Given the description of an element on the screen output the (x, y) to click on. 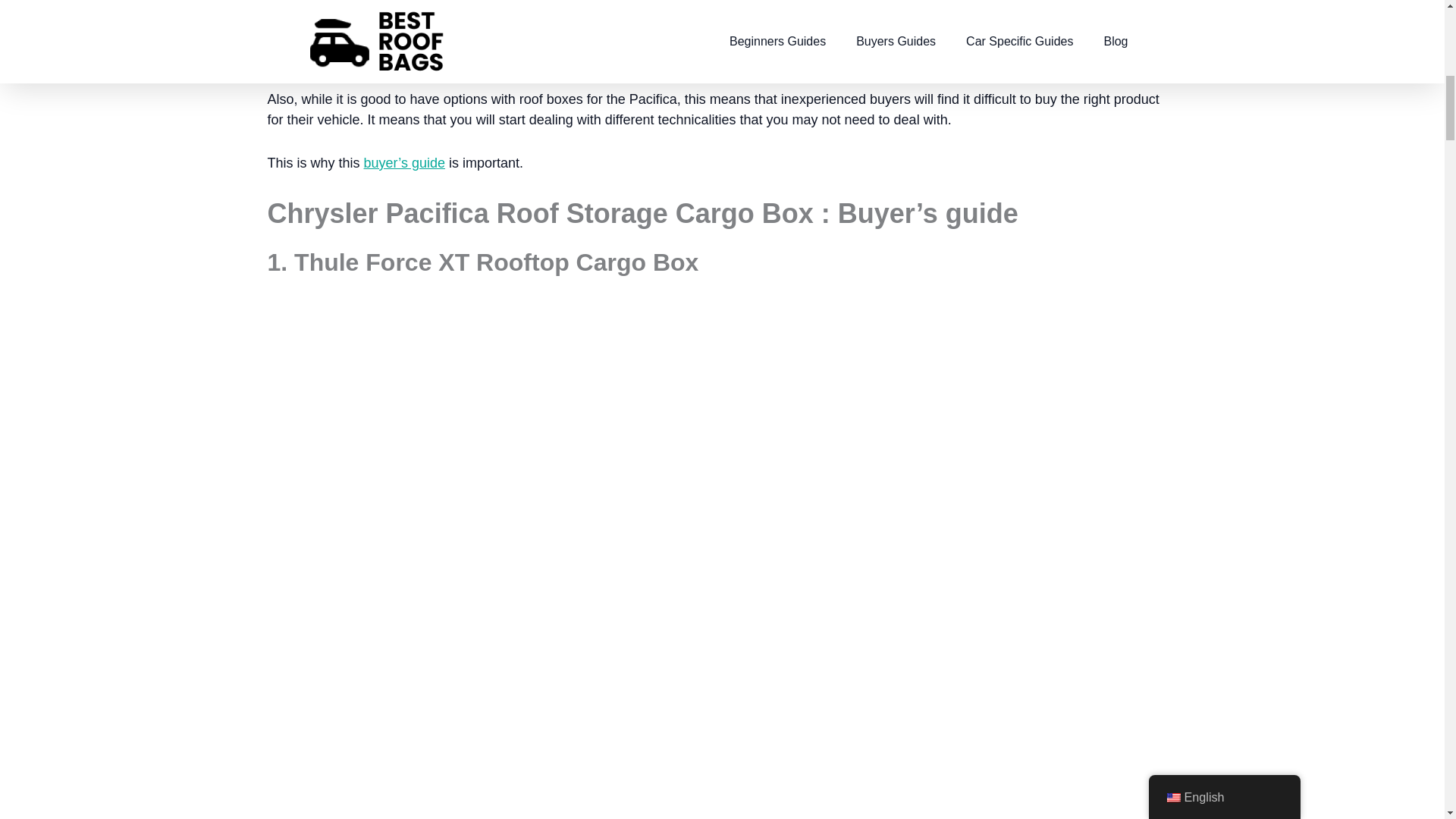
roof boxes (1131, 14)
roof box (669, 35)
